Given the description of an element on the screen output the (x, y) to click on. 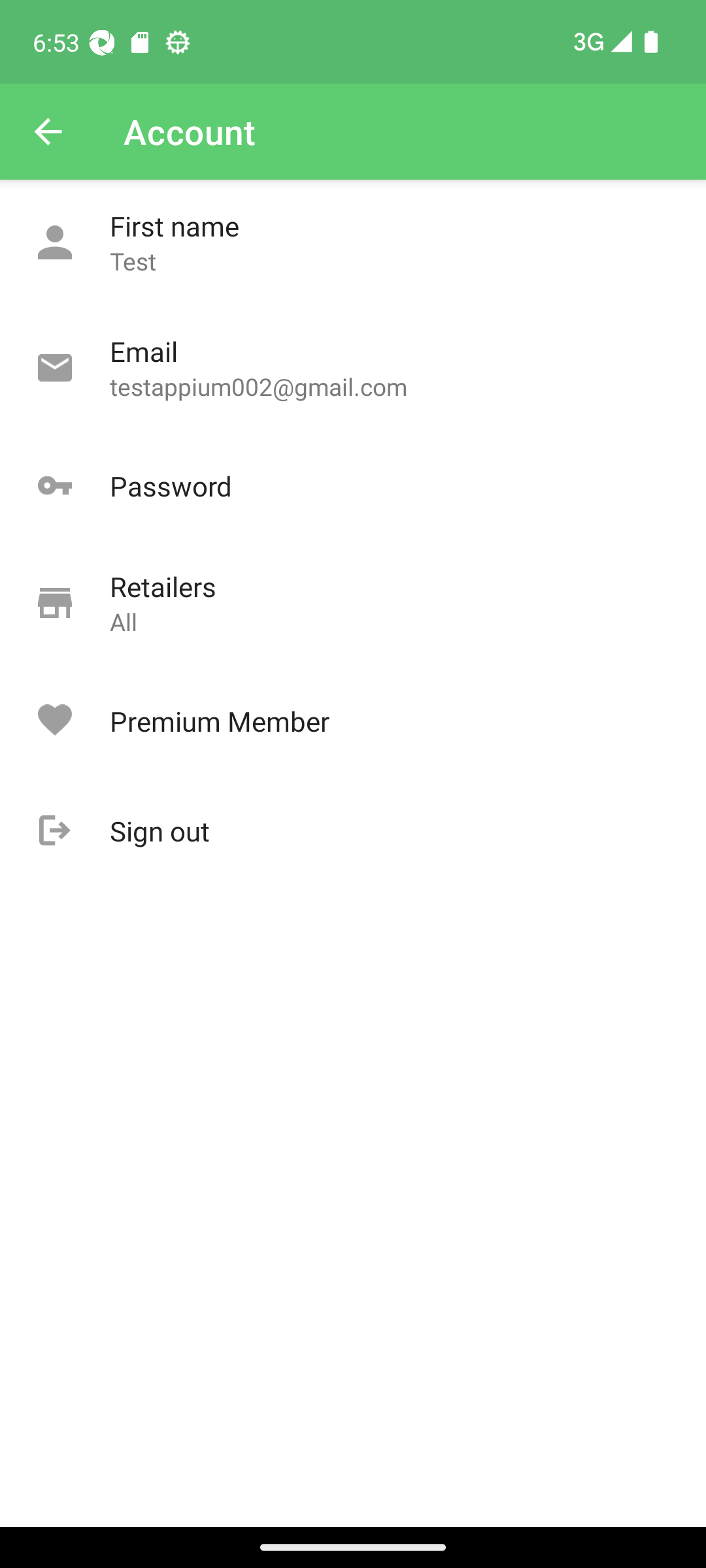
Navigate up (48, 131)
First name Test (353, 242)
Email testappium002@gmail.com (353, 368)
Password (353, 485)
Retailers All (353, 603)
Premium Member (353, 721)
Sign out (353, 830)
